Given the description of an element on the screen output the (x, y) to click on. 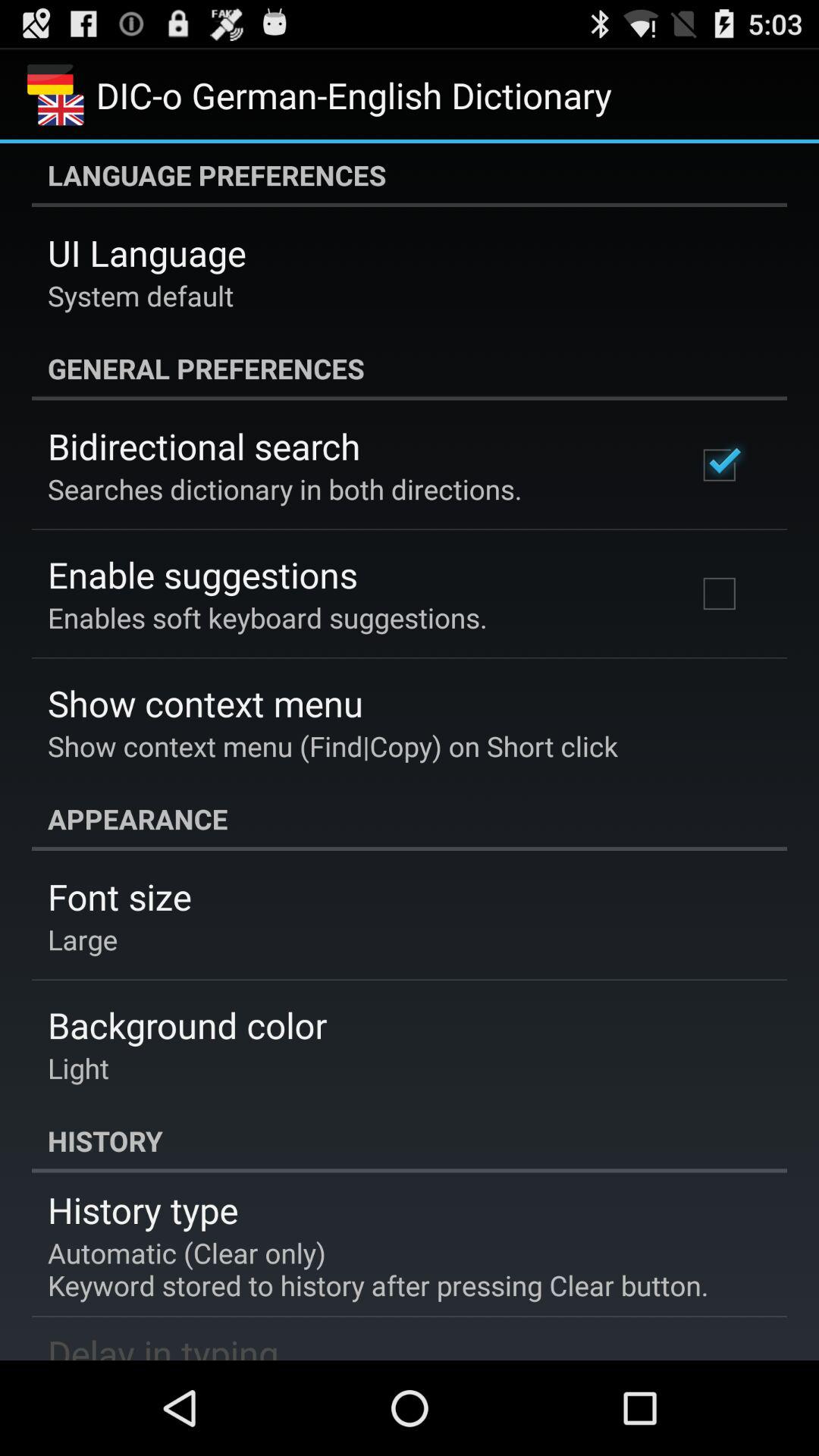
turn off the app above ui language icon (409, 175)
